Given the description of an element on the screen output the (x, y) to click on. 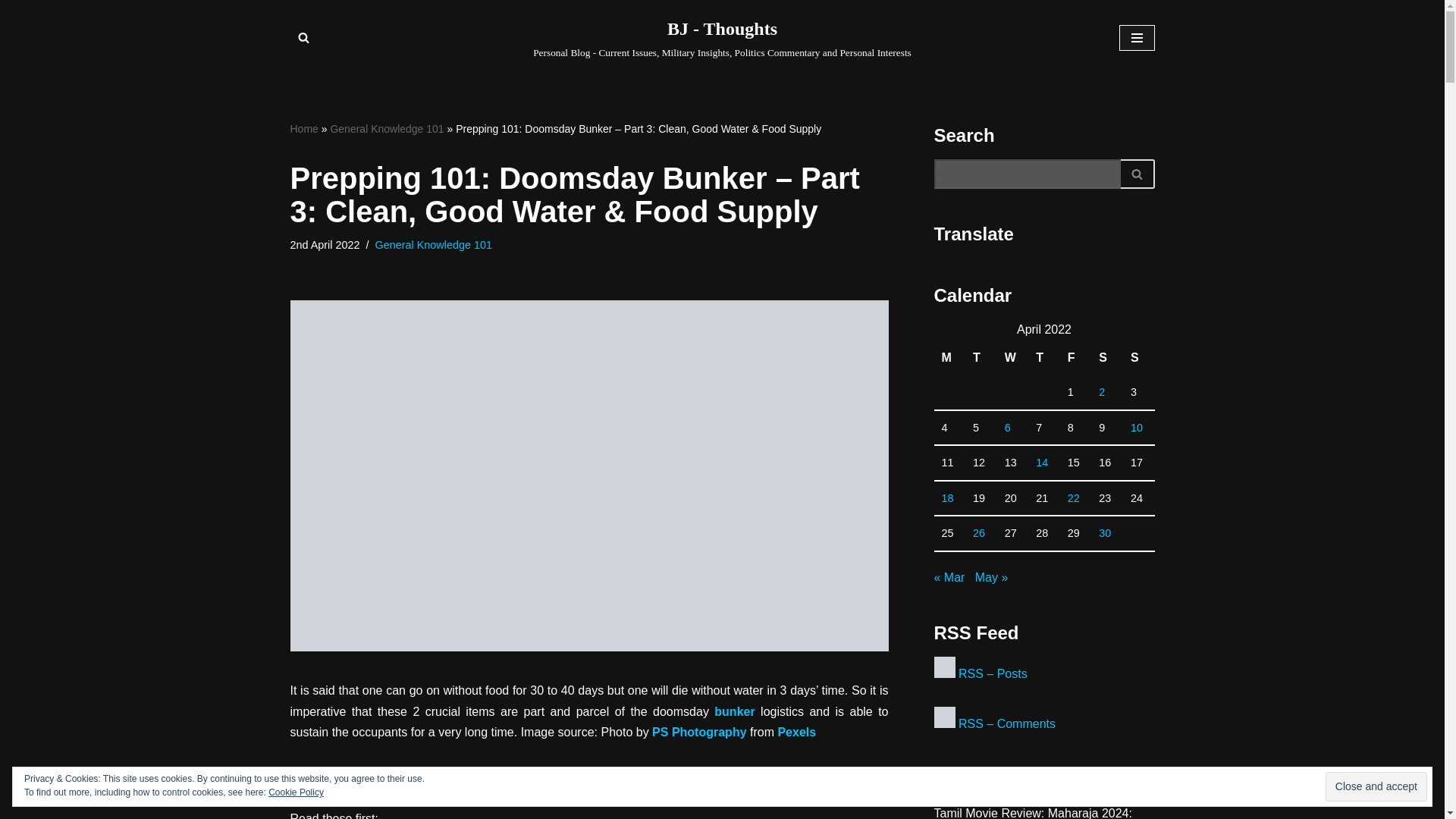
General Knowledge 101 (433, 244)
Skip to content (11, 31)
General Knowledge 101 (387, 128)
Close and accept (1375, 786)
PS Photography (698, 731)
Home (303, 128)
Navigation Menu (1136, 37)
Pexels (796, 731)
bunker (734, 711)
